Given the description of an element on the screen output the (x, y) to click on. 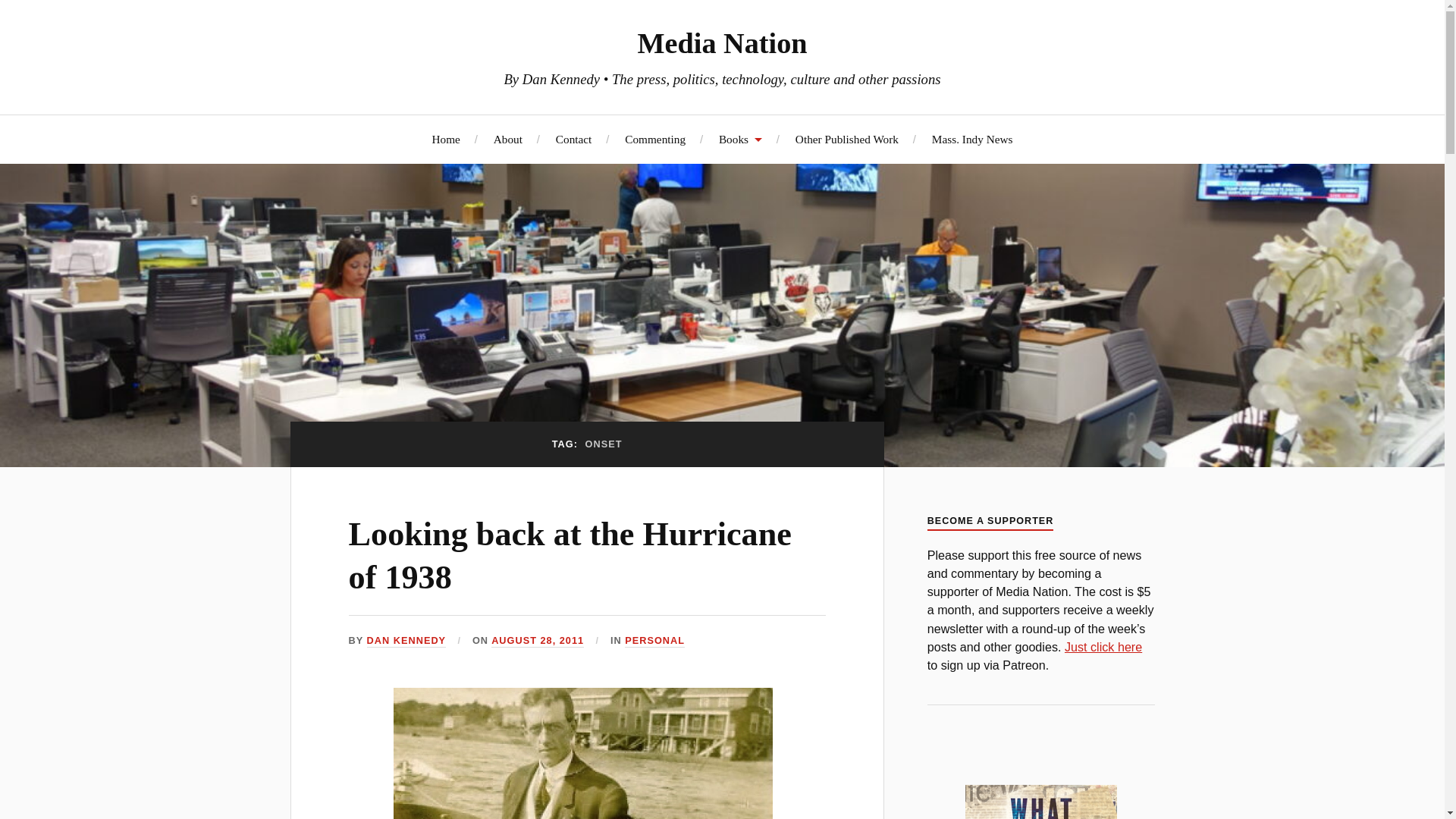
Posts by Dan Kennedy (406, 640)
Looking back at the Hurricane of 1938 (570, 555)
AUGUST 28, 2011 (537, 640)
Media Nation (721, 42)
PERSONAL (654, 640)
DAN KENNEDY (406, 640)
Books (740, 138)
Mass. Indy News (972, 138)
Other Published Work (846, 138)
Just click here (1102, 646)
Commenting (654, 138)
